Given the description of an element on the screen output the (x, y) to click on. 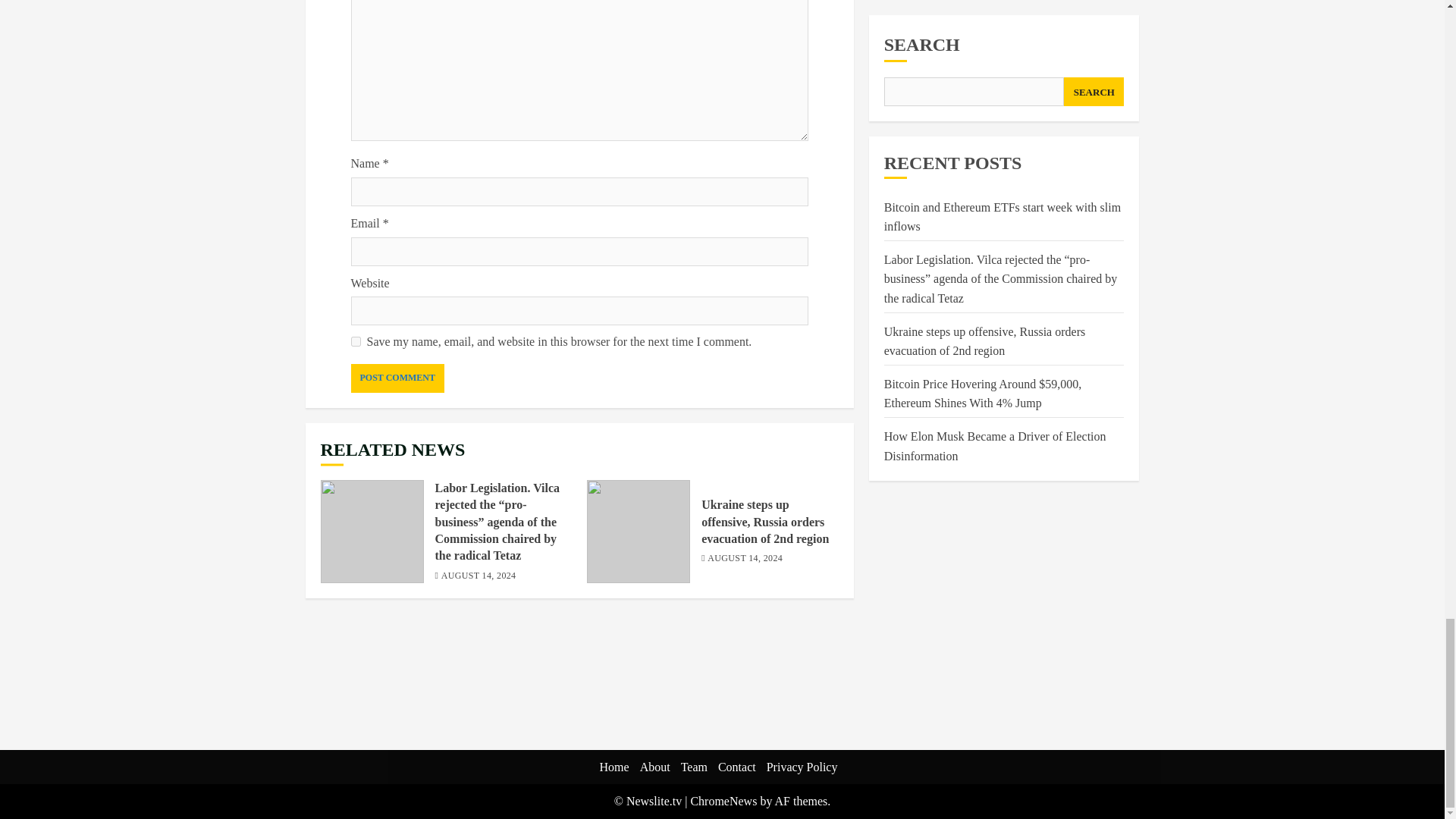
Post Comment (397, 378)
About (654, 766)
Privacy Policy (802, 766)
Home (613, 766)
ChromeNews (723, 800)
Team (694, 766)
AUGUST 14, 2024 (745, 558)
Post Comment (397, 378)
AUGUST 14, 2024 (478, 576)
